Given the description of an element on the screen output the (x, y) to click on. 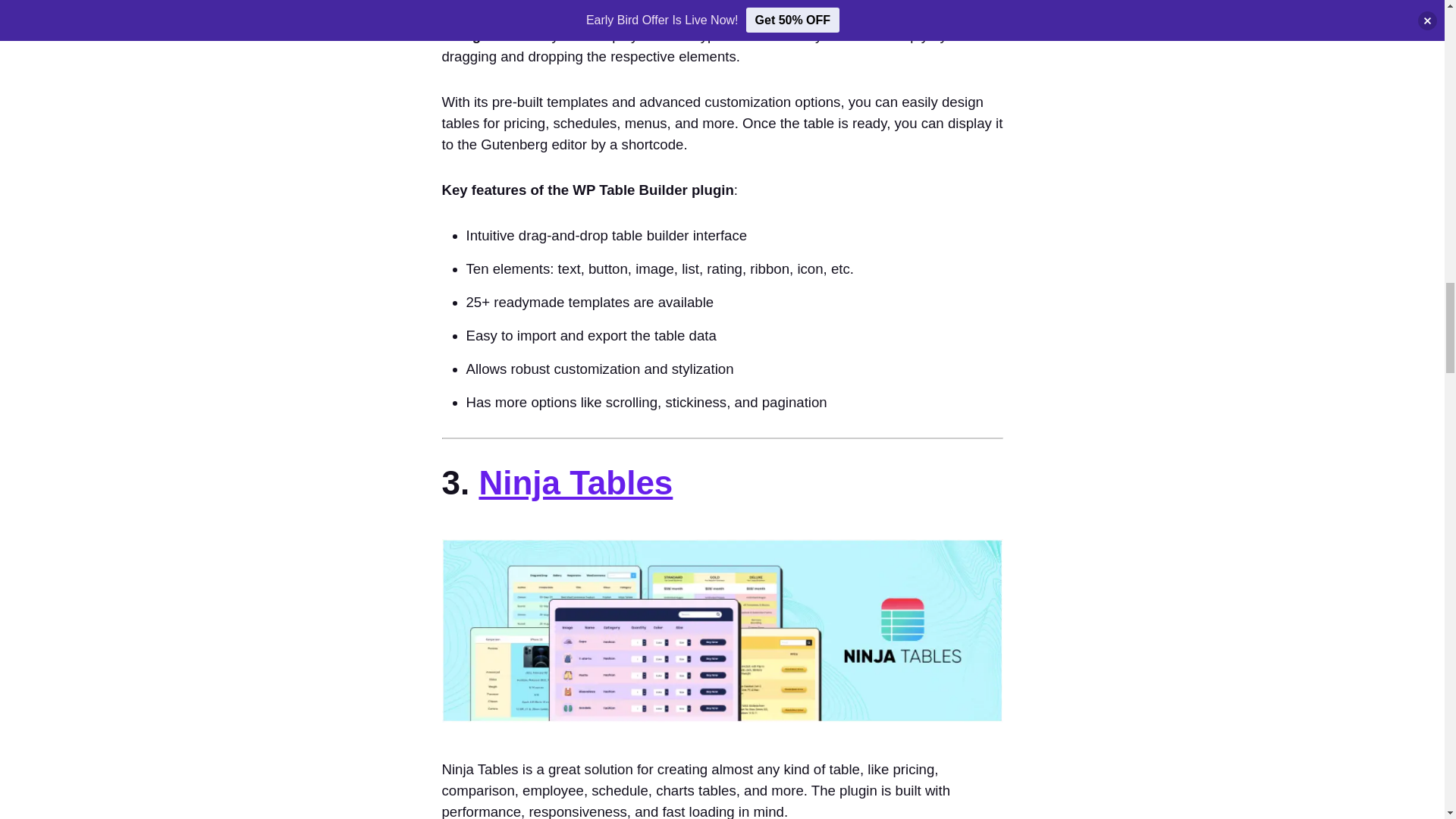
Ninja Tables (575, 482)
